Given the description of an element on the screen output the (x, y) to click on. 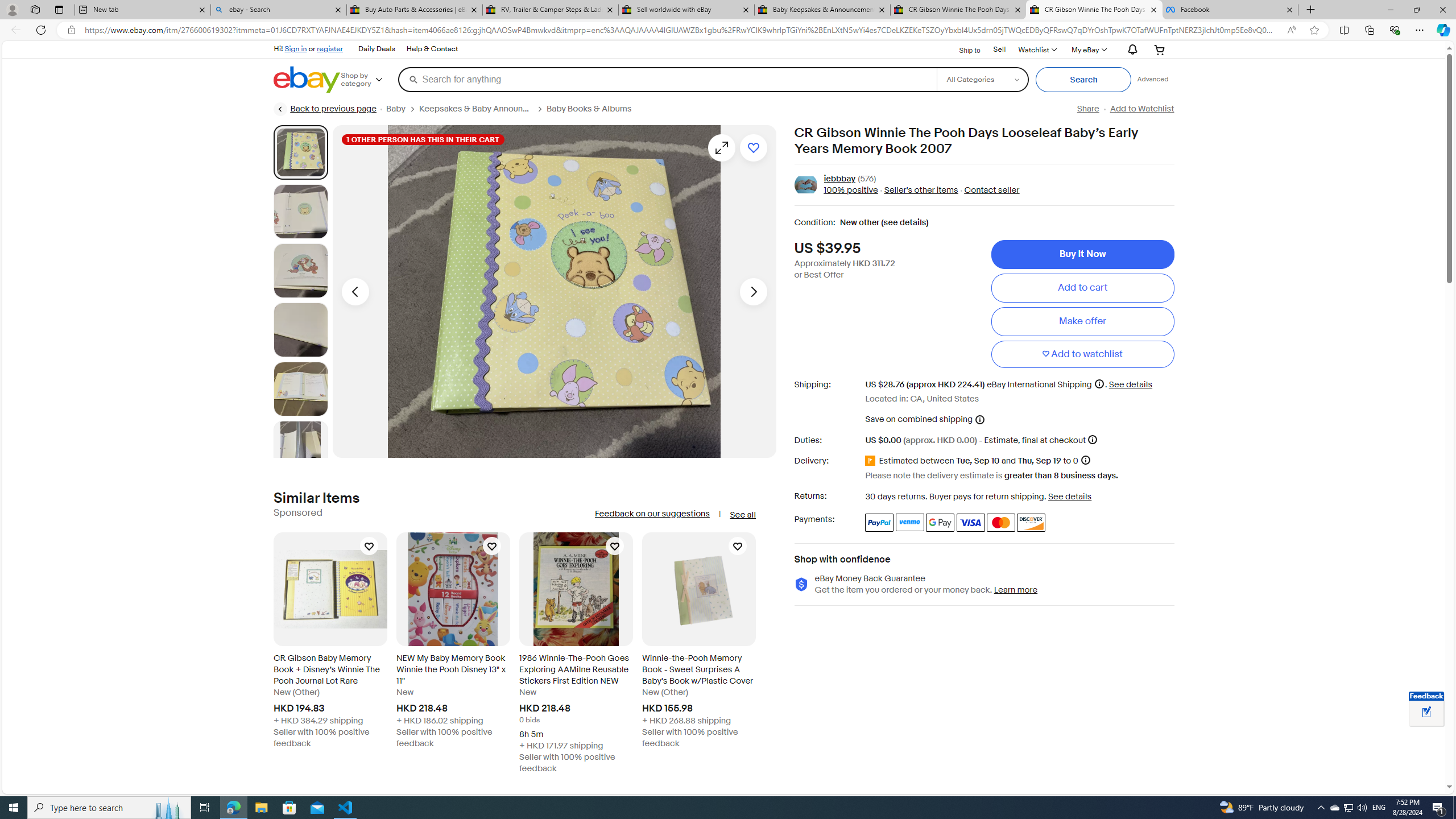
eBay Home (306, 79)
Information - Estimated delivery date - opens a layer (1085, 460)
Help, opens dialogs (1420, 768)
Venmo (909, 521)
Ship to (962, 48)
Daily Deals (376, 49)
Back to previous page (325, 109)
Help & Contact (431, 49)
Seller's other items (920, 190)
